Given the description of an element on the screen output the (x, y) to click on. 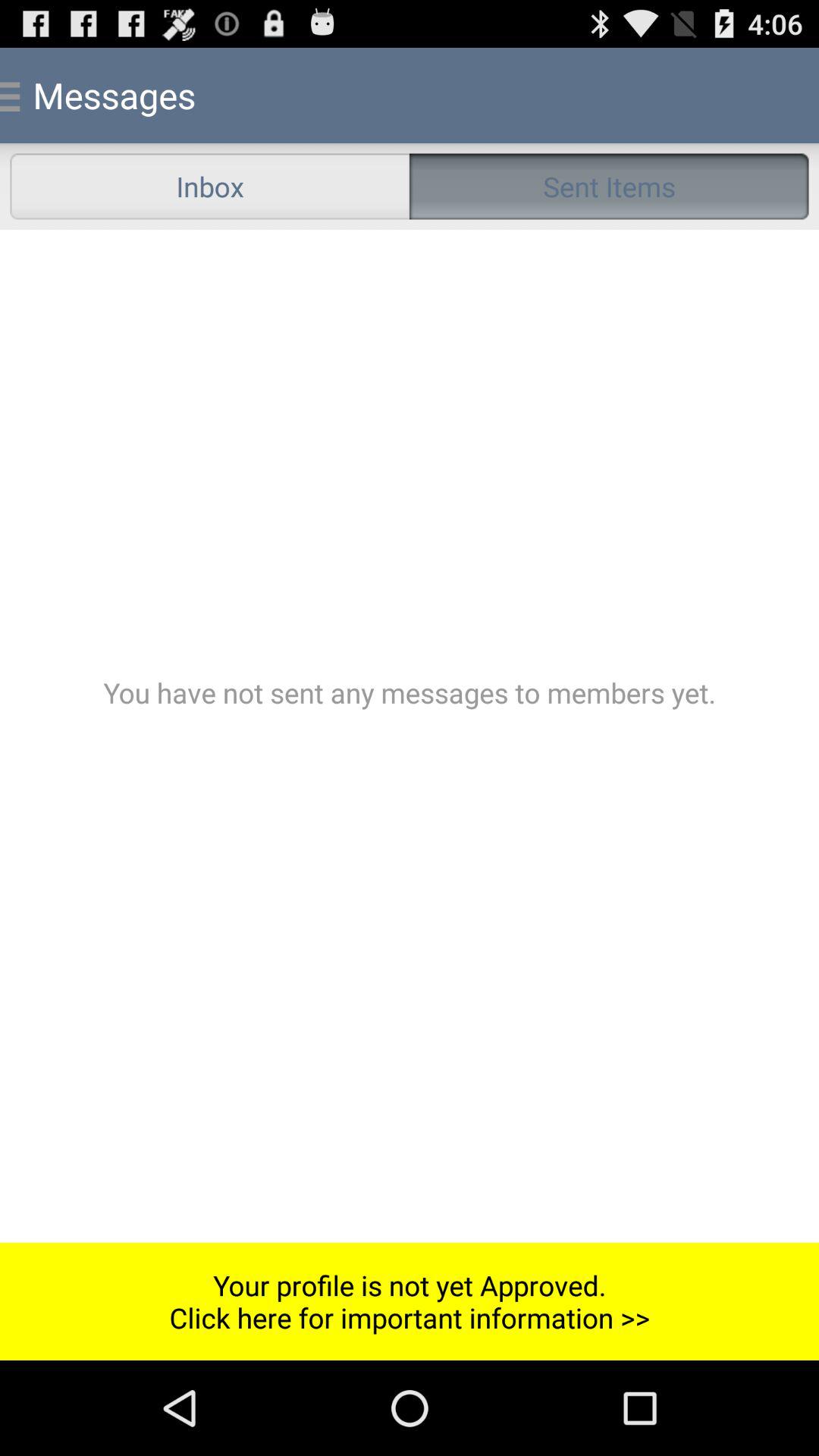
select the color bar (409, 735)
